Given the description of an element on the screen output the (x, y) to click on. 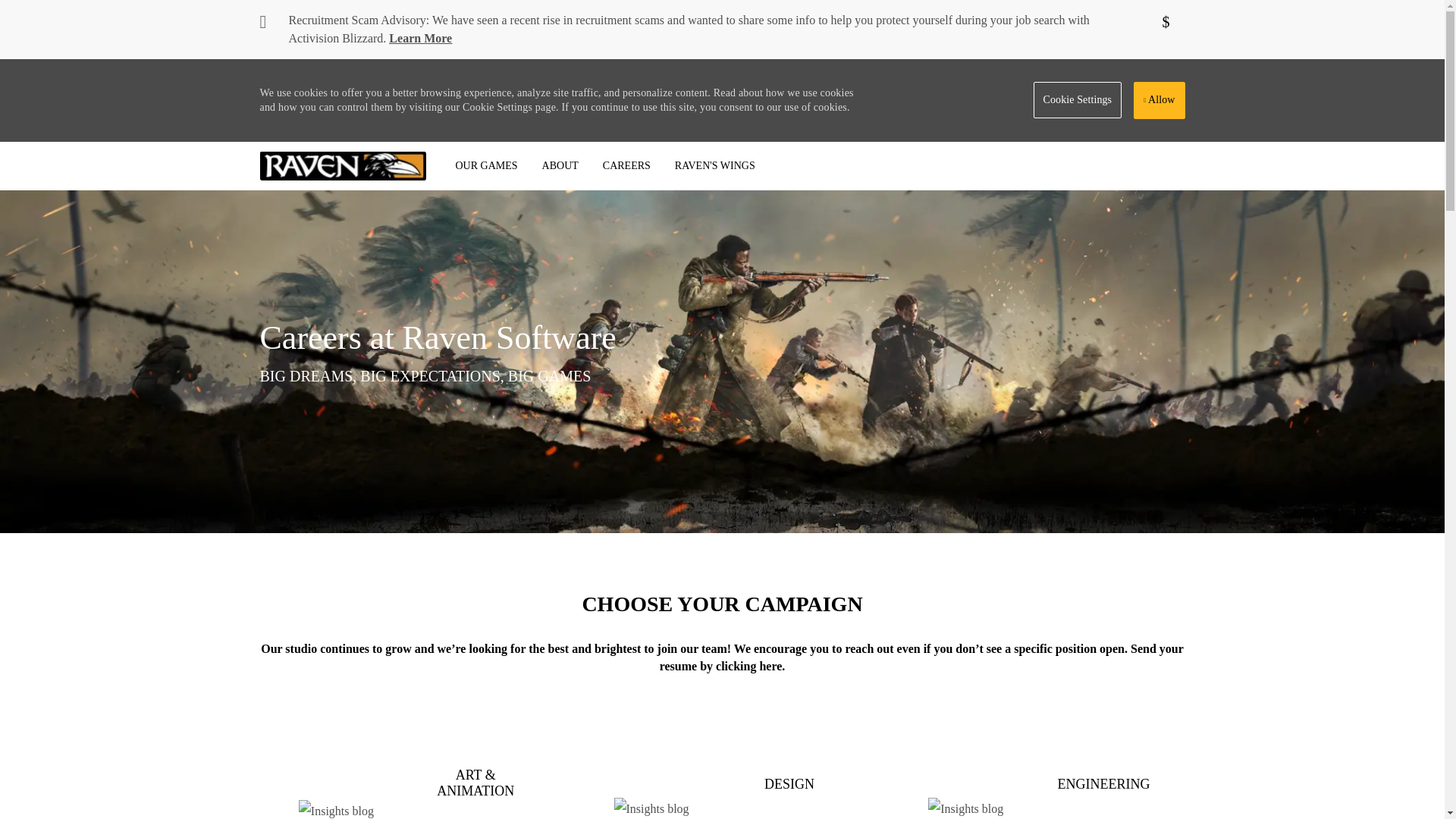
Allow (1159, 99)
Cookie Settings (1077, 99)
Raven Software (342, 165)
ABOUT (560, 165)
RAVEN'S WINGS (714, 165)
CAREERS (626, 165)
Learn More (419, 38)
OUR GAMES (485, 165)
